Given the description of an element on the screen output the (x, y) to click on. 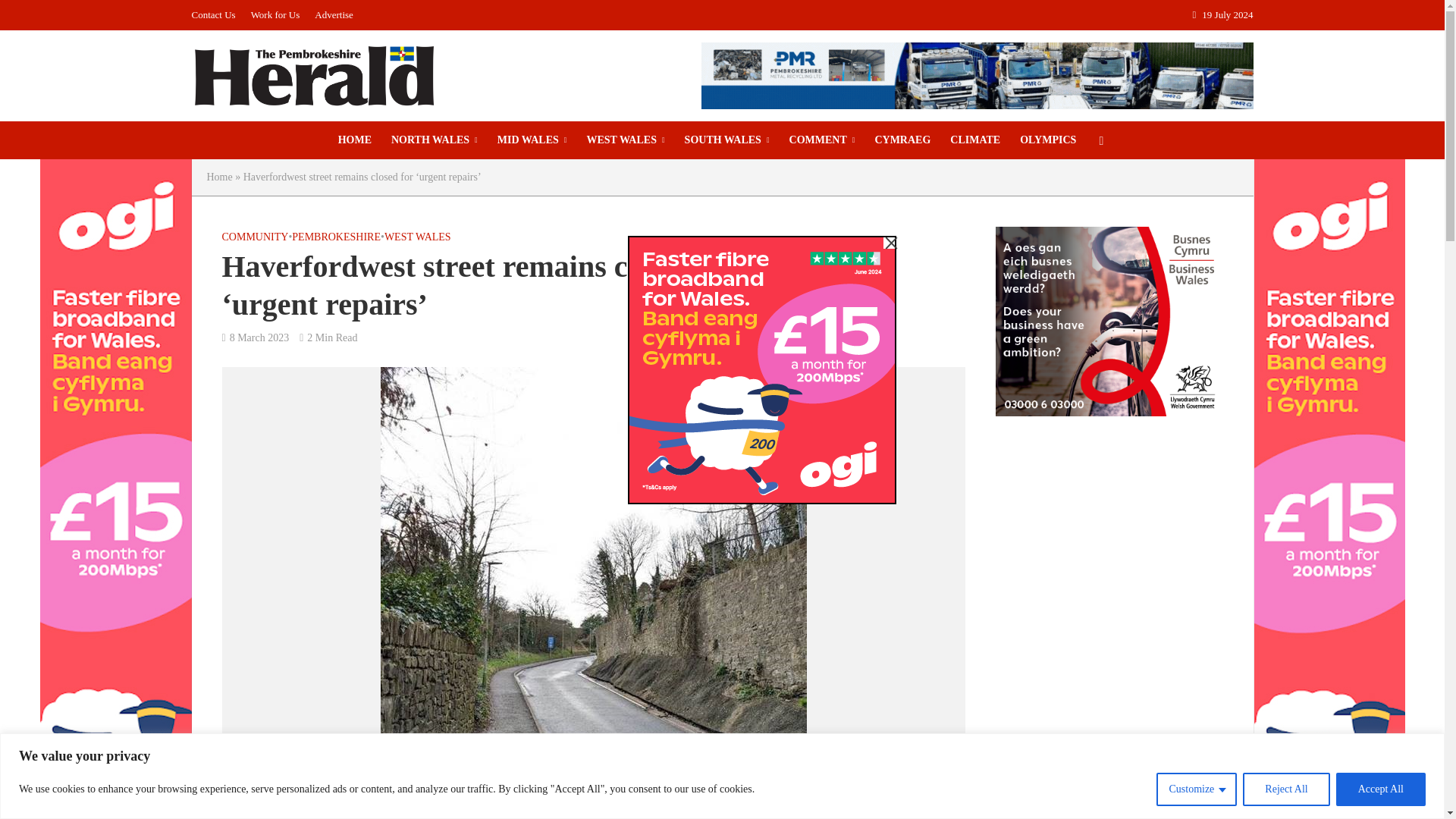
SOUTH WALES (726, 139)
Advertise (334, 15)
Reject All (1286, 788)
Work for Us (275, 15)
HOME (355, 139)
Contact Us (216, 15)
NORTH WALES (434, 139)
WEST WALES (625, 139)
MID WALES (531, 139)
Accept All (1380, 788)
Customize (1196, 788)
